Given the description of an element on the screen output the (x, y) to click on. 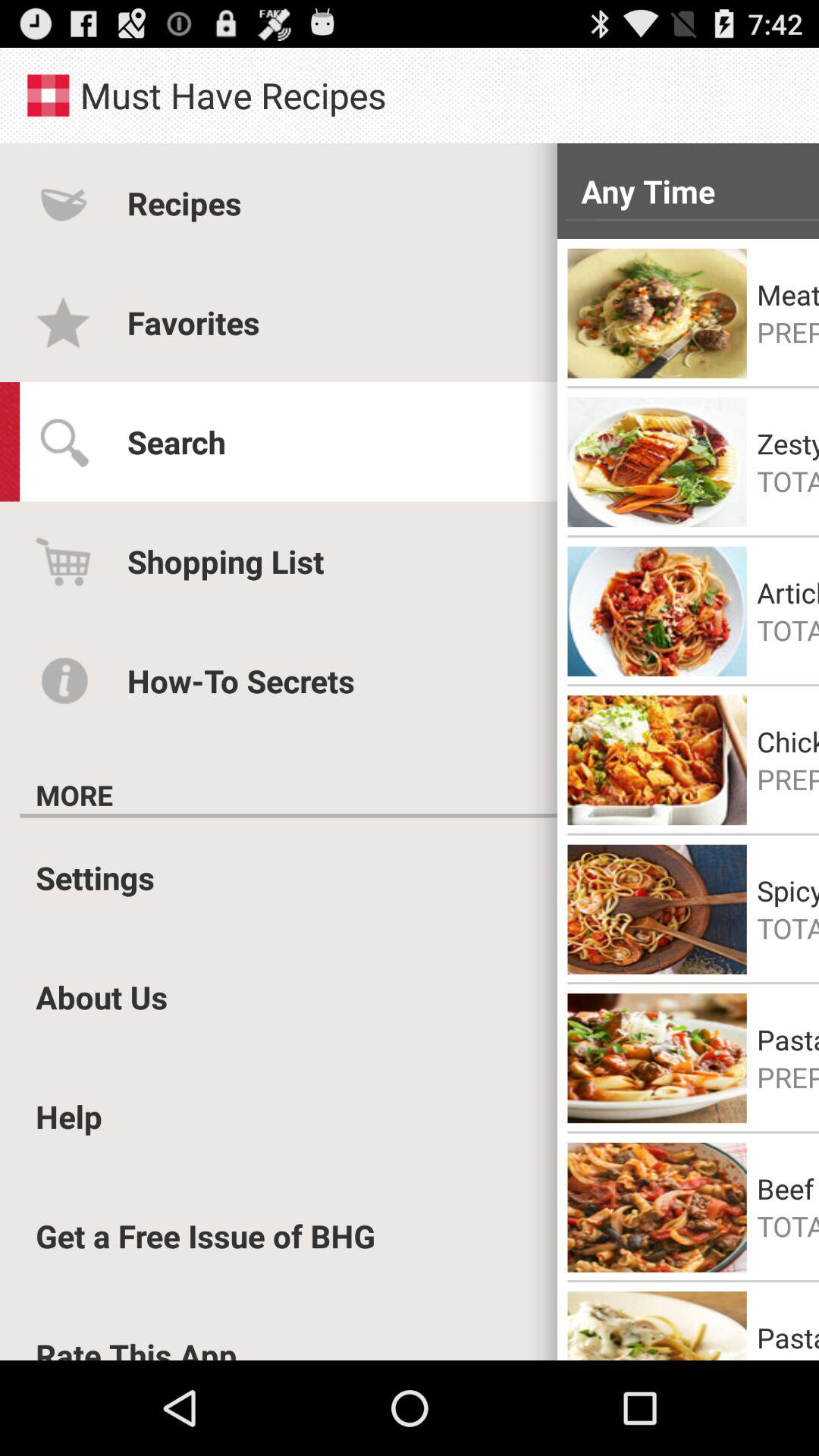
select favorites (193, 322)
